Given the description of an element on the screen output the (x, y) to click on. 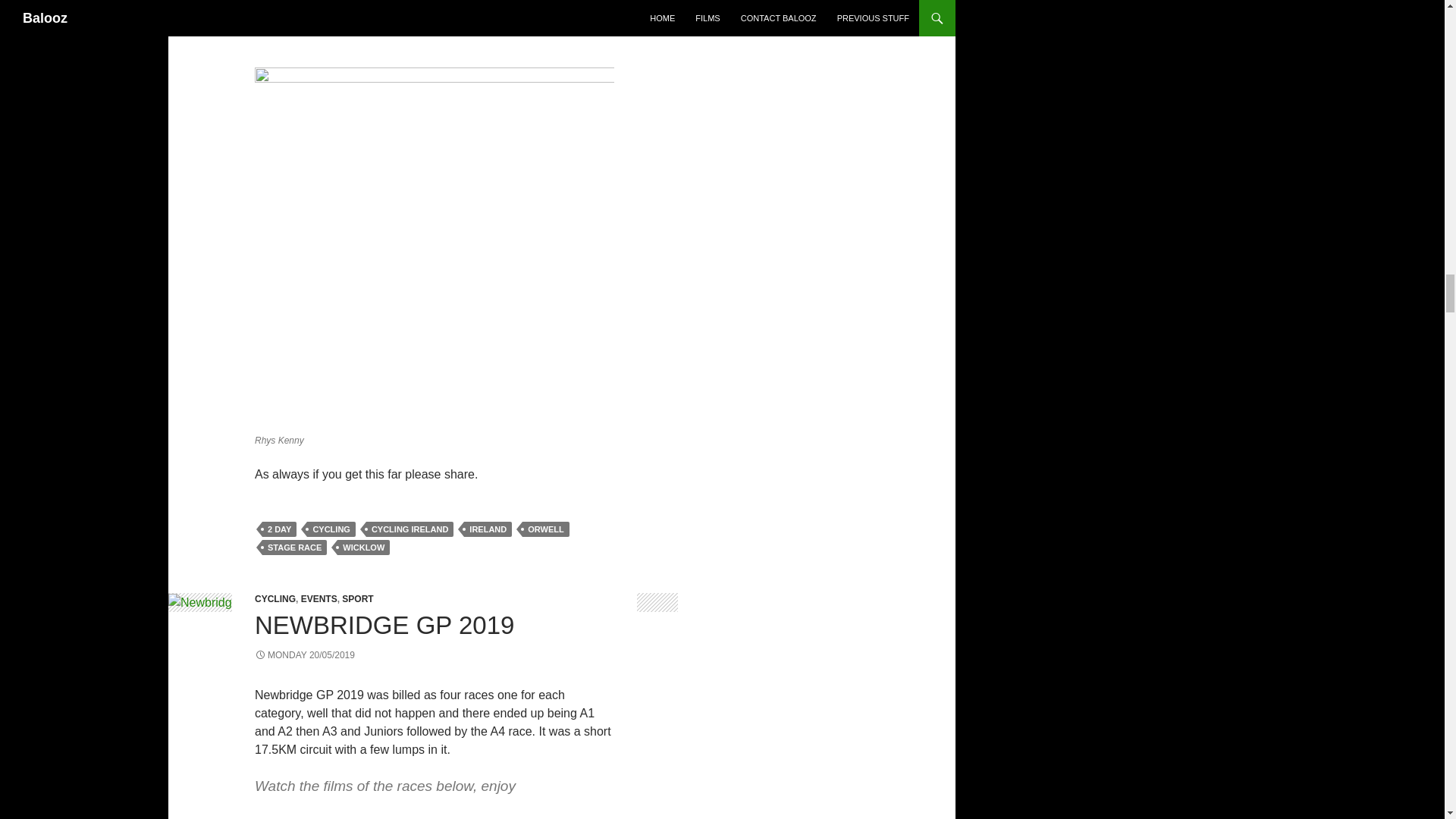
CYCLING (331, 529)
STAGE RACE (294, 547)
NEWBRIDGE GP 2019 (383, 624)
2 DAY (279, 529)
EVENTS (319, 598)
CYCLING IRELAND (409, 529)
IRELAND (488, 529)
WICKLOW (363, 547)
CYCLING (274, 598)
ORWELL (545, 529)
